Given the description of an element on the screen output the (x, y) to click on. 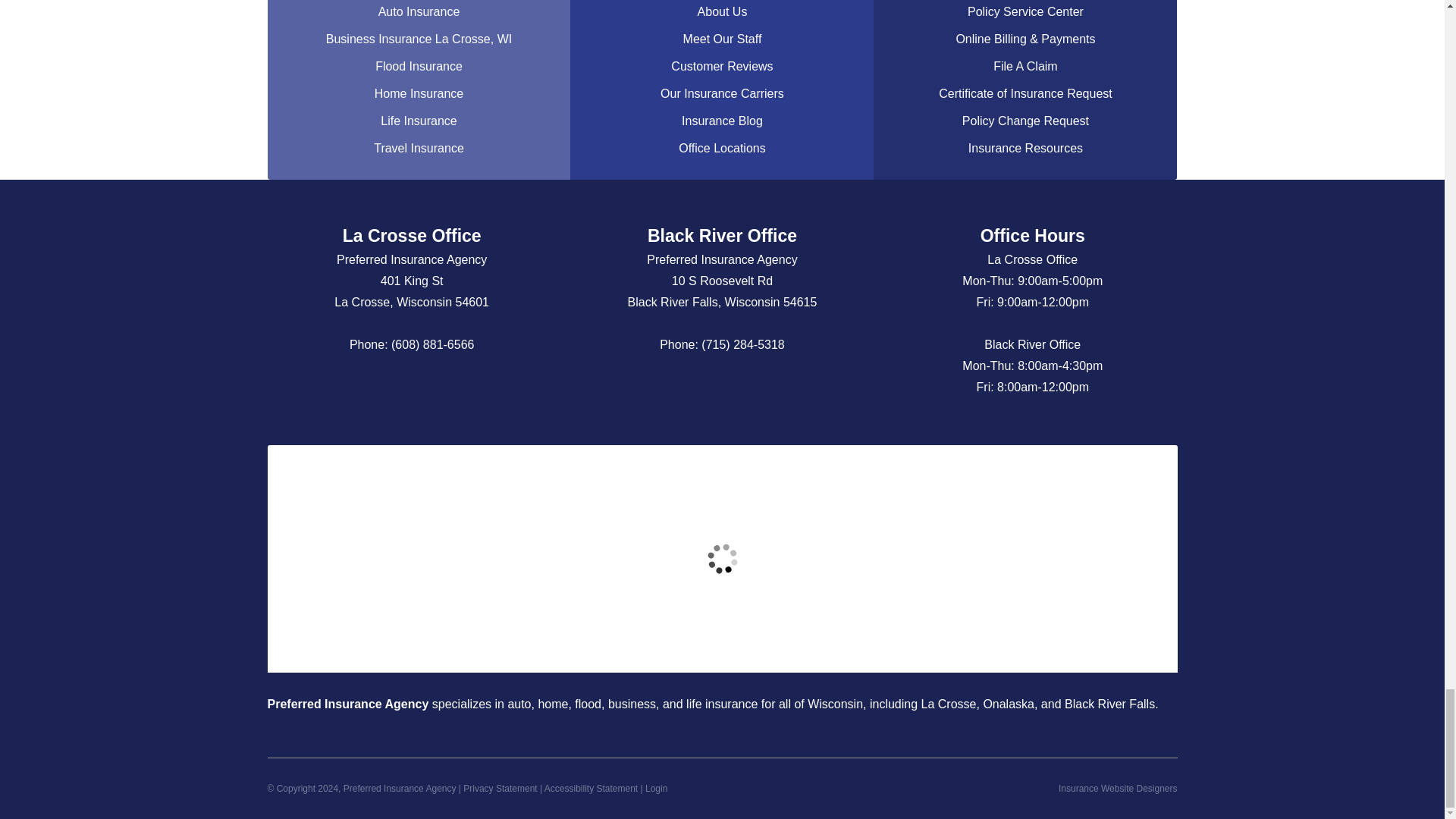
Facebook (426, 389)
Google Maps (367, 389)
X (456, 389)
Google Maps (721, 389)
Yelp (397, 389)
